Given the description of an element on the screen output the (x, y) to click on. 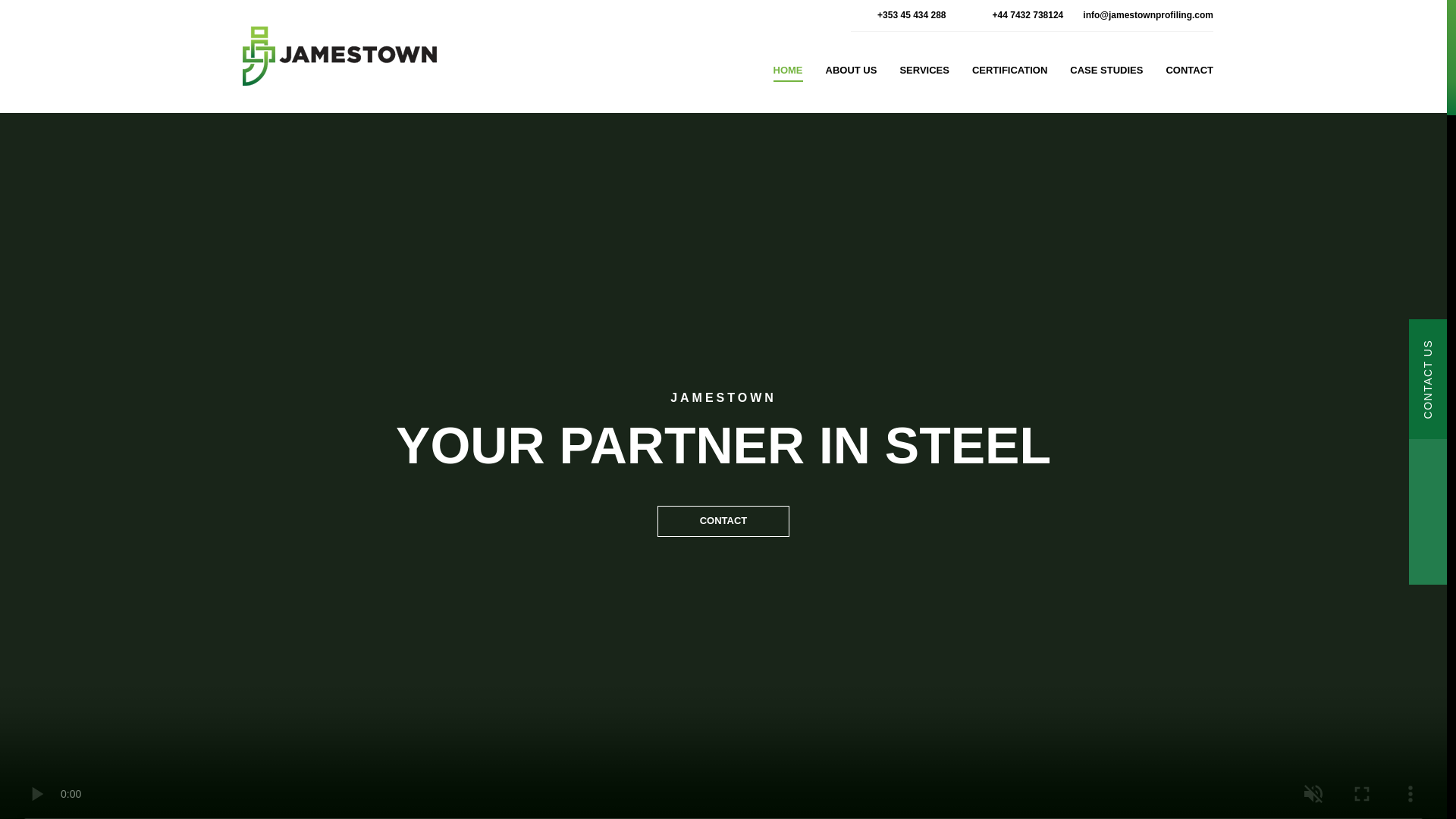
BRIDGE STRUCTURES (1062, 194)
CONTACT (1189, 73)
SERVICES (924, 73)
ABOUT US (850, 73)
CONTACT (724, 521)
CERTIFICATION (1009, 73)
HOME (788, 73)
CASE STUDIES (1106, 73)
